Given the description of an element on the screen output the (x, y) to click on. 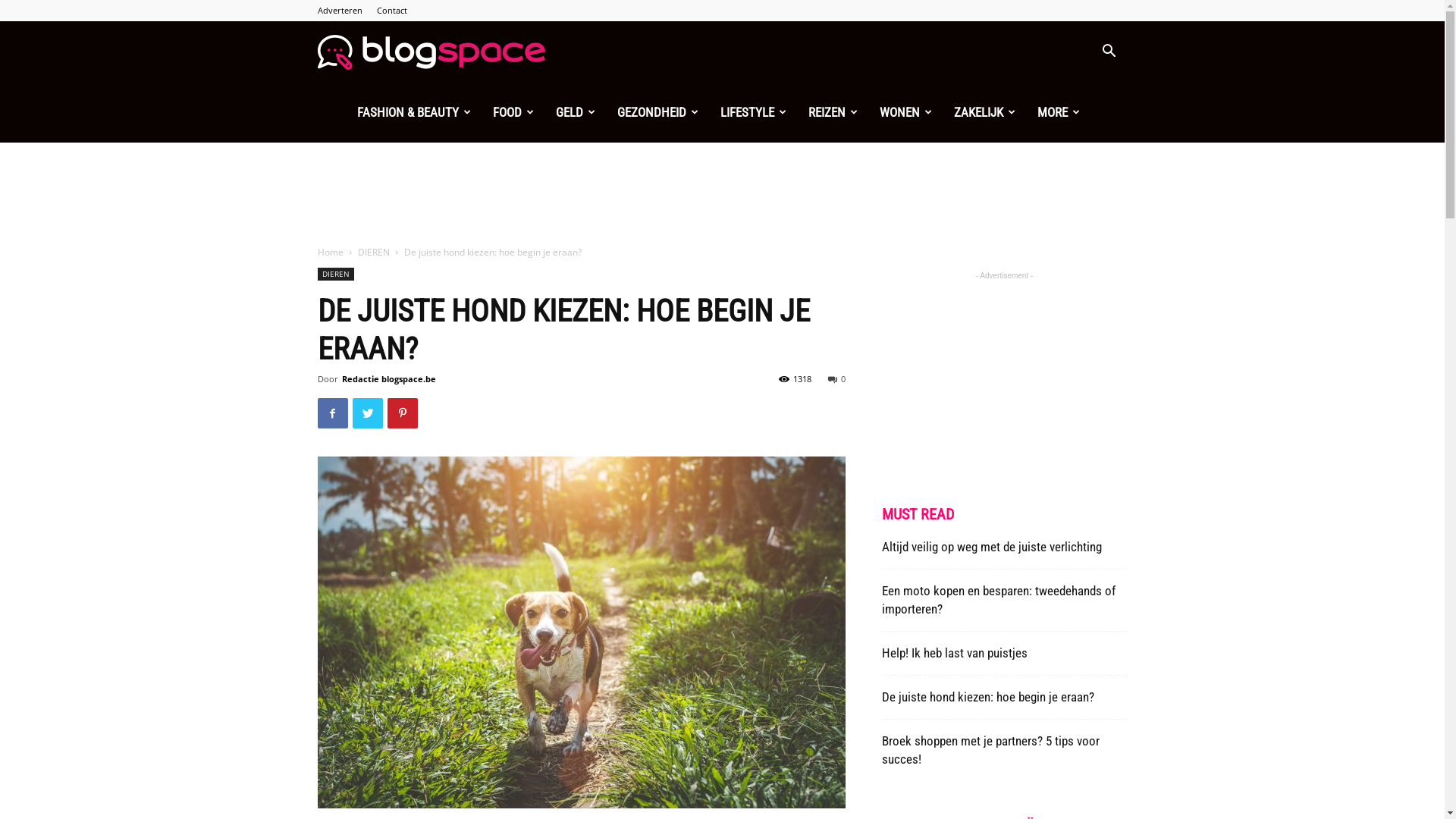
Redactie blogspace.be Element type: text (388, 378)
DIEREN Element type: text (373, 251)
FASHION & BEAUTY Element type: text (413, 111)
REIZEN Element type: text (833, 111)
Blogspace.be Element type: text (430, 51)
GEZONDHEID Element type: text (657, 111)
DIEREN Element type: text (334, 273)
Contact Element type: text (391, 9)
Broek shoppen met je partners? 5 tips voor succes! Element type: text (989, 749)
De juiste hond kiezen: hoe begin je eraan? Element type: text (987, 696)
hond kiezen Element type: hover (580, 632)
Home Element type: text (329, 251)
Zoek Element type: text (1086, 124)
Adverteren Element type: text (338, 9)
Een moto kopen en besparen: tweedehands of importeren? Element type: text (997, 599)
Altijd veilig op weg met de juiste verlichting Element type: text (991, 546)
FOOD Element type: text (513, 111)
MORE Element type: text (1058, 111)
LIFESTYLE Element type: text (753, 111)
Help! Ik heb last van puistjes Element type: text (953, 652)
Advertisement Element type: hover (721, 194)
WONEN Element type: text (906, 111)
GELD Element type: text (574, 111)
0 Element type: text (836, 378)
ZAKELIJK Element type: text (984, 111)
Advertisement Element type: hover (1003, 378)
